Given the description of an element on the screen output the (x, y) to click on. 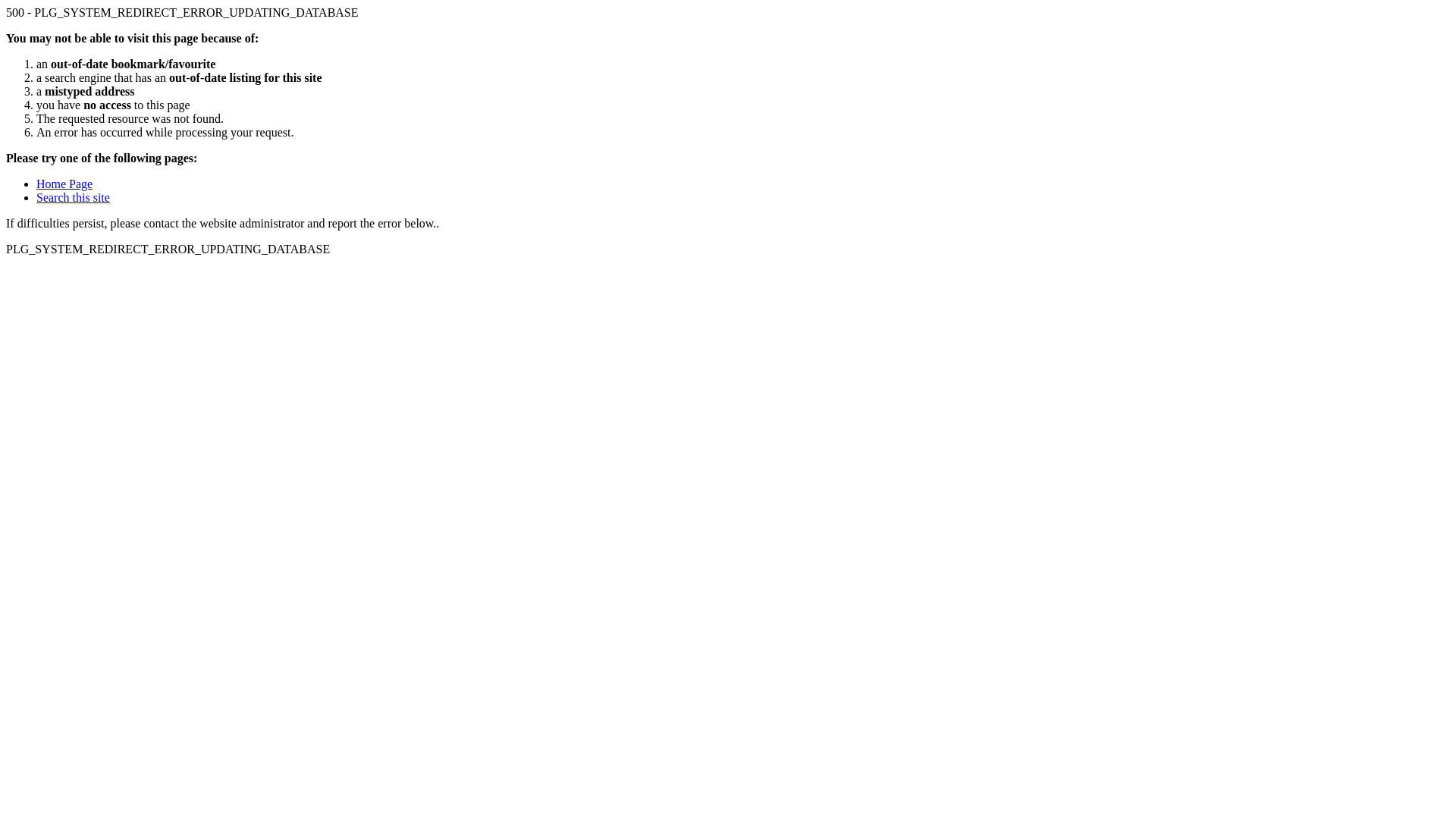
Home Page Element type: text (64, 183)
Search this site Element type: text (72, 197)
